Given the description of an element on the screen output the (x, y) to click on. 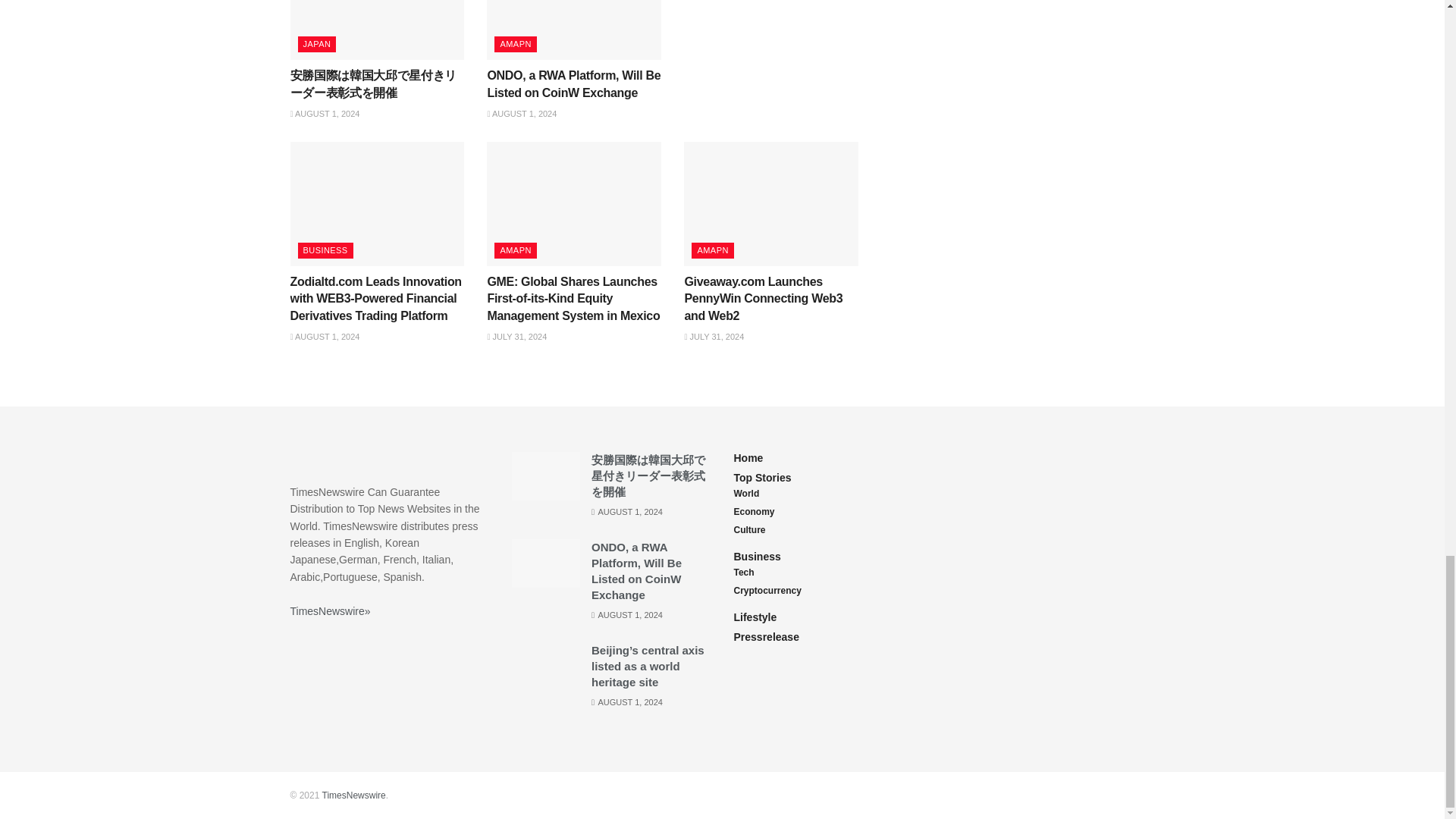
TimesNewswire (353, 795)
